Given the description of an element on the screen output the (x, y) to click on. 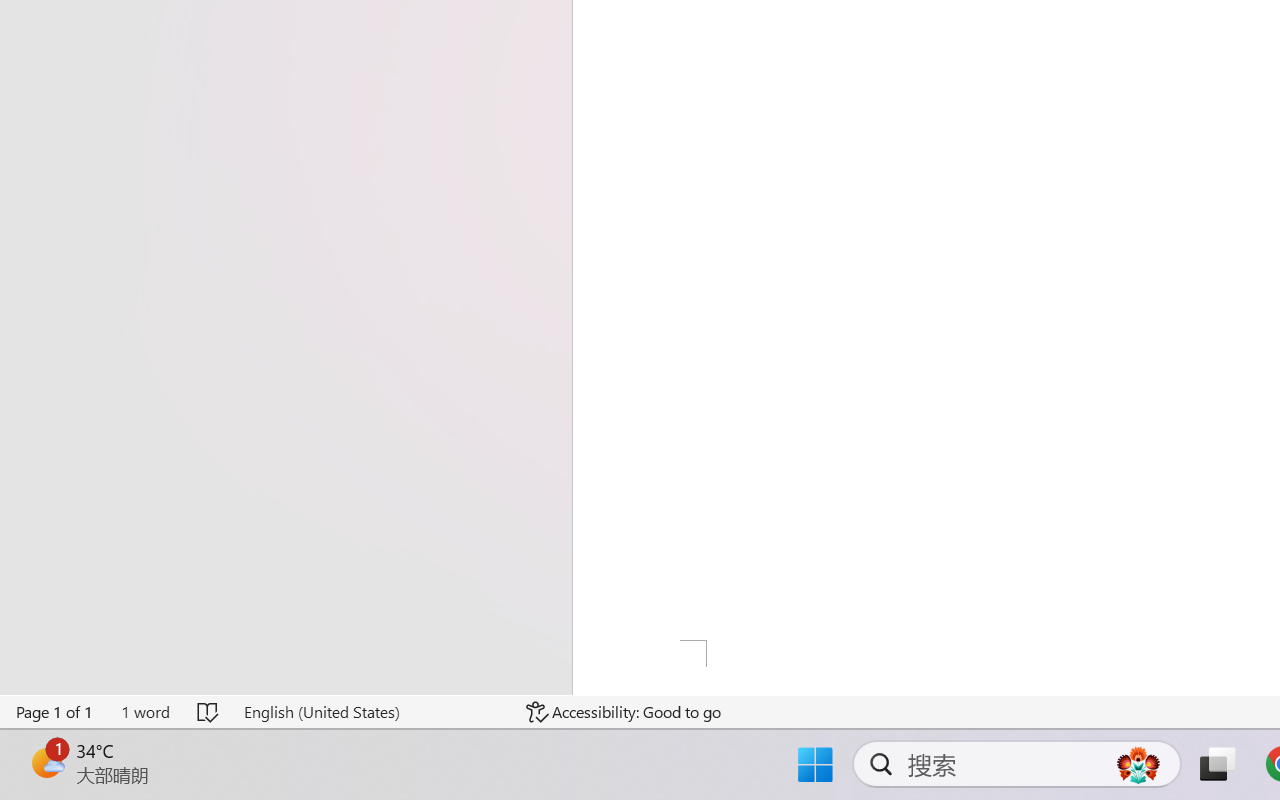
Spelling and Grammar Check No Errors (208, 712)
Word Count 1 word (145, 712)
Accessibility Checker Accessibility: Good to go (623, 712)
AutomationID: BadgeAnchorLargeTicker (46, 762)
AutomationID: DynamicSearchBoxGleamImage (1138, 764)
Page Number Page 1 of 1 (55, 712)
Language English (United States) (370, 712)
